Given the description of an element on the screen output the (x, y) to click on. 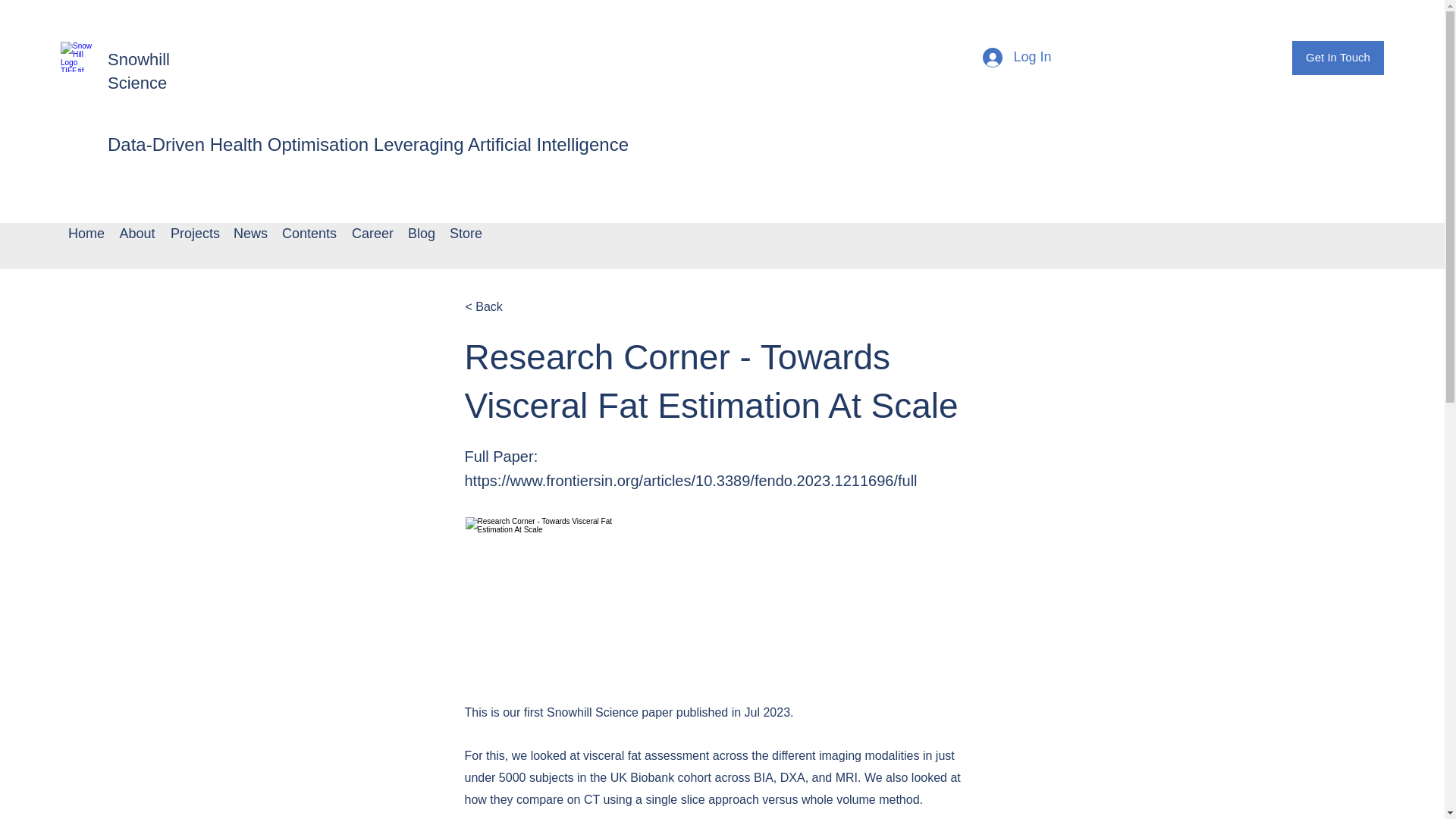
Projects (194, 233)
Screenshot 2023-10-19 at 21.03.54.png (550, 601)
News (250, 233)
Contents (309, 233)
Store (464, 233)
Snowhill Science (138, 70)
Log In (1016, 57)
About (137, 233)
Career (371, 233)
Blog (421, 233)
Home (86, 233)
Get In Touch (1338, 57)
